Given the description of an element on the screen output the (x, y) to click on. 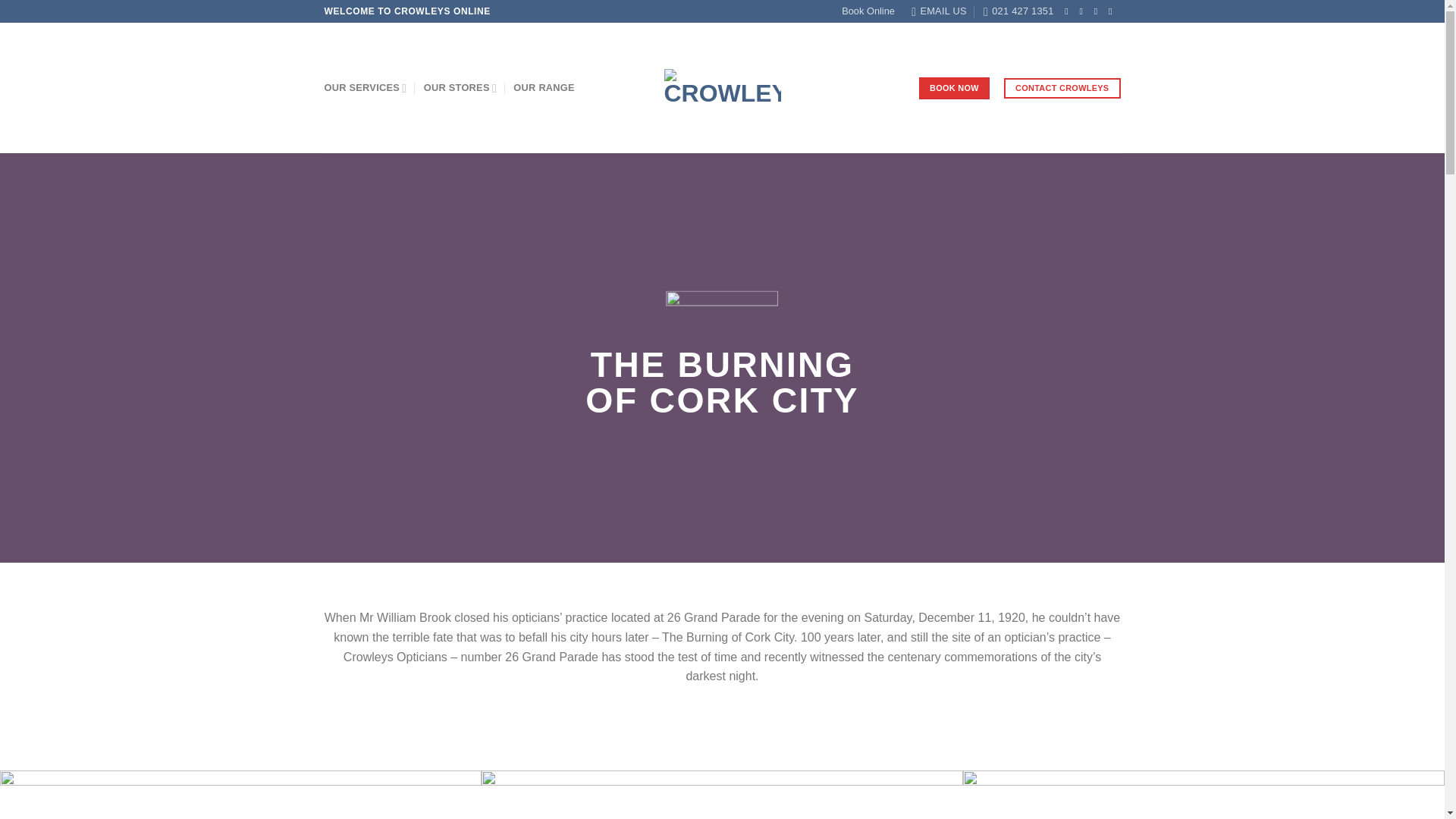
BOOK NOW (954, 87)
021 427 1351 (1018, 11)
OUR STORES (459, 88)
OUR SERVICES (365, 88)
CONTACT CROWLEYS (1062, 88)
021 427 1351 (1018, 11)
Book Online (868, 11)
EMAIL US (938, 11)
Crowleys Opticians - Over 100 Years of Eye Care Expertise (721, 87)
OUR RANGE (544, 87)
